Given the description of an element on the screen output the (x, y) to click on. 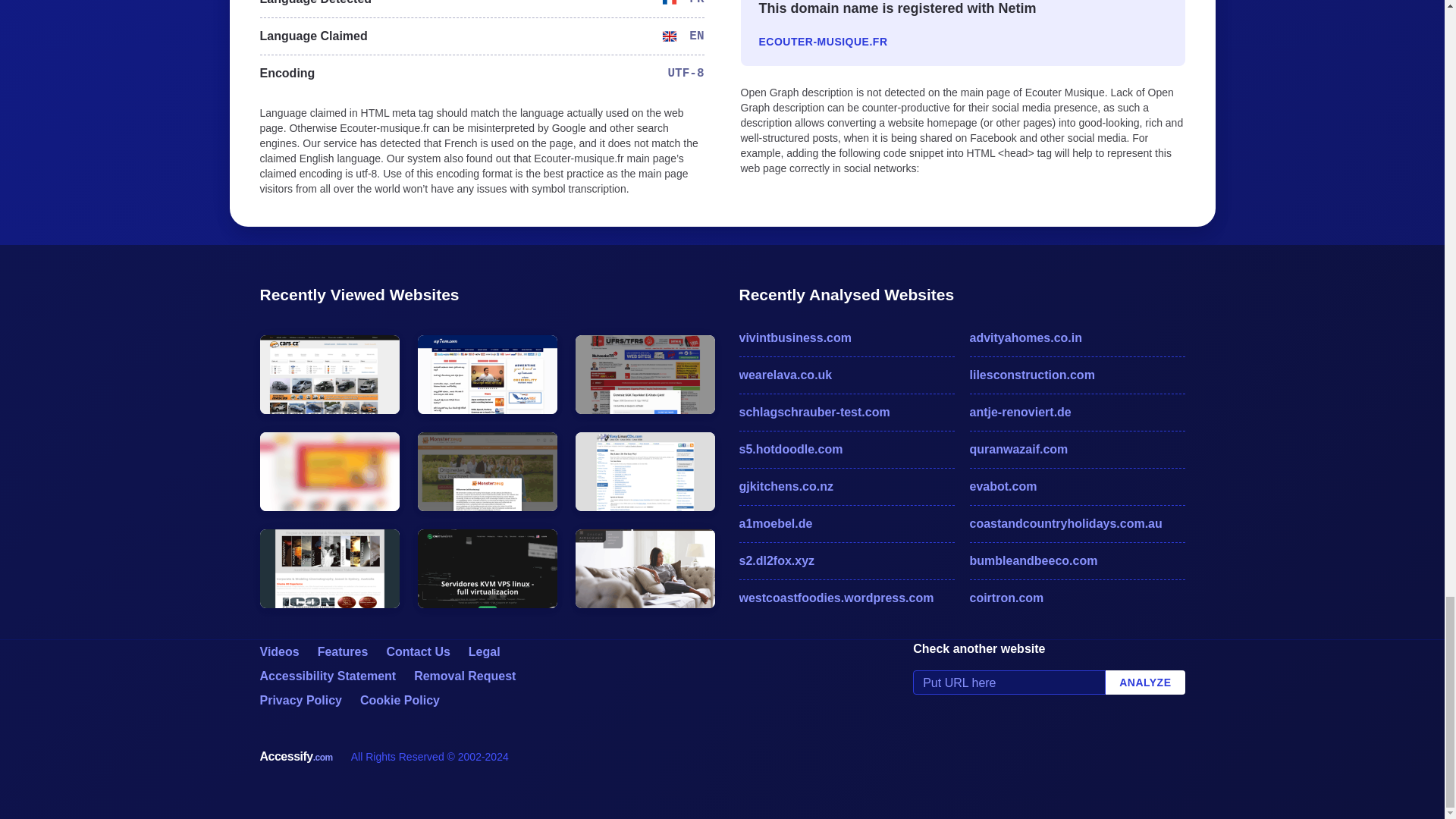
Contact Us (417, 651)
s2.dl2fox.xyz (845, 561)
coirtron.com (1077, 597)
bumbleandbeeco.com (1077, 561)
gjkitchens.co.nz (845, 486)
antje-renoviert.de (1077, 412)
a1moebel.de (845, 524)
Screencasts: video tutorials and guides (278, 651)
Features (342, 651)
advityahomes.co.in (1077, 338)
vivintbusiness.com (845, 338)
schlagschrauber-test.com (845, 412)
evabot.com (1077, 486)
lilesconstruction.com (1077, 375)
s5.hotdoodle.com (845, 449)
